Given the description of an element on the screen output the (x, y) to click on. 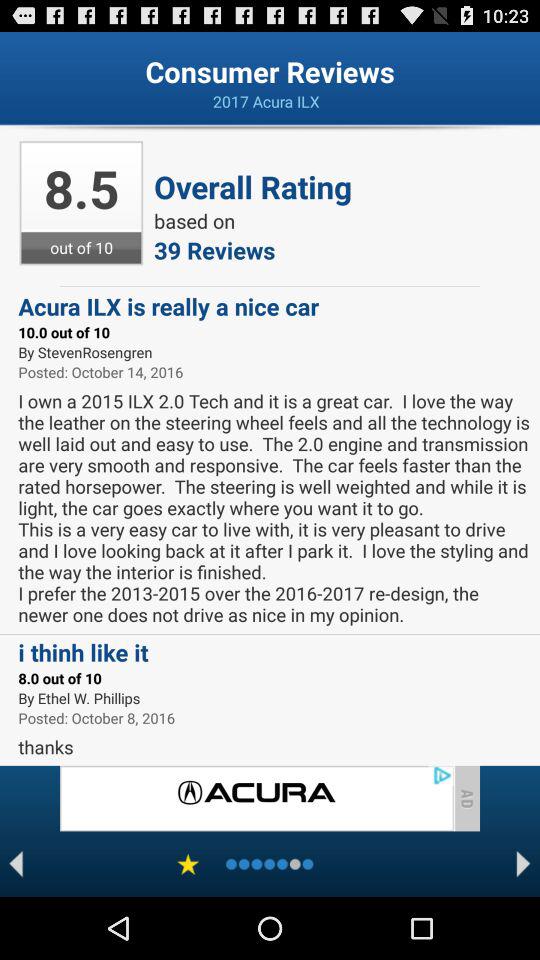
see other options (523, 864)
